Given the description of an element on the screen output the (x, y) to click on. 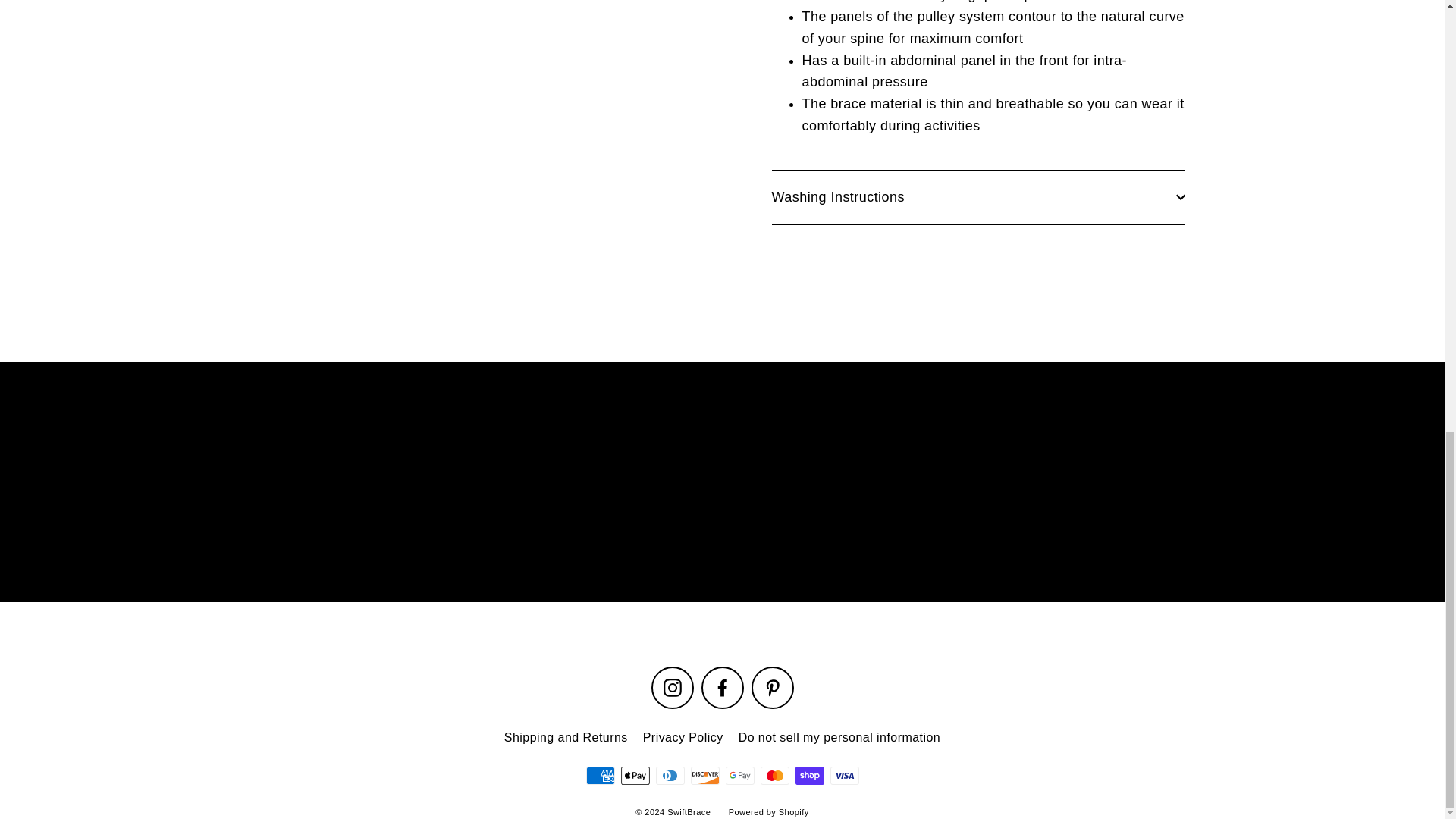
Visa (844, 775)
Shipping and Returns (565, 737)
Pinterest (772, 687)
Diners Club (669, 775)
Facebook (721, 687)
SwiftBrace on Pinterest (772, 687)
Discover (704, 775)
Shop Pay (809, 775)
Privacy Policy (682, 737)
SwiftBrace on Instagram (671, 687)
Google Pay (739, 775)
SwiftBrace on Facebook (721, 687)
Washing Instructions (978, 196)
Apple Pay (634, 775)
Mastercard (774, 775)
